Given the description of an element on the screen output the (x, y) to click on. 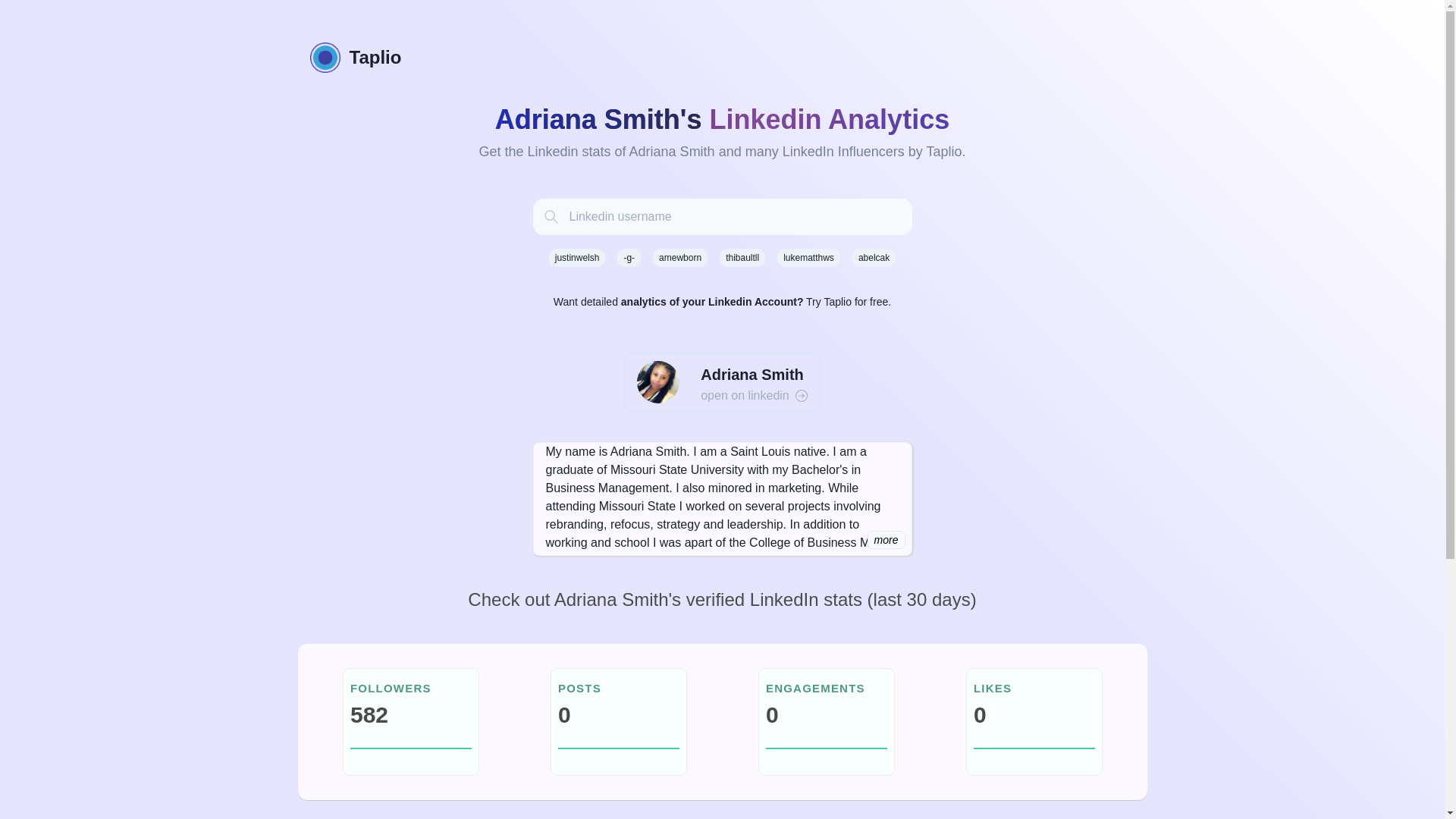
open on linkedin (754, 395)
more (886, 539)
justinwelsh (576, 257)
abelcak (873, 257)
LinkedIn Influencers (843, 151)
Taplio (721, 57)
-g- (628, 257)
lukematthws (808, 257)
thibaultll (742, 257)
amewborn (679, 257)
